Given the description of an element on the screen output the (x, y) to click on. 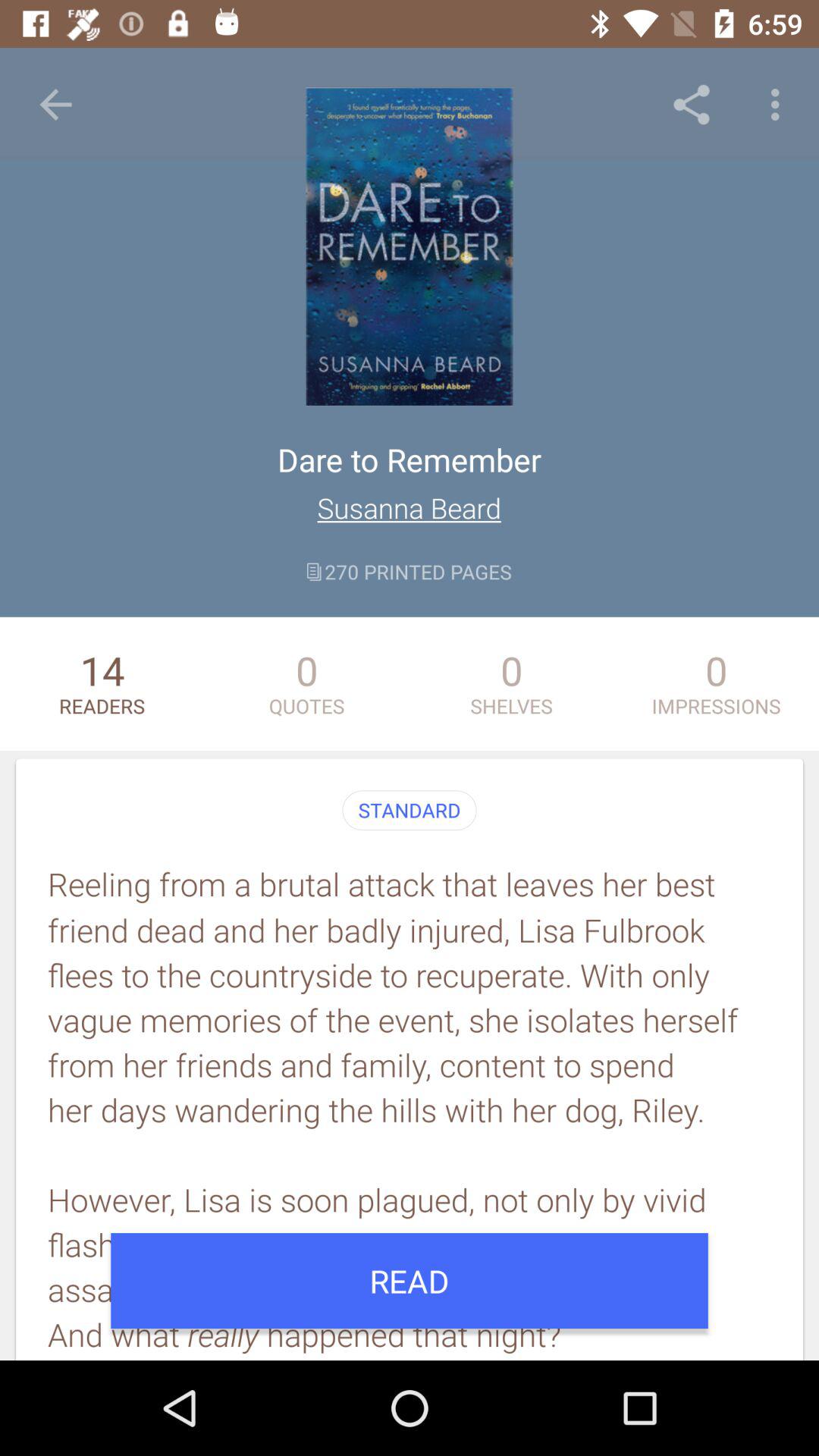
flip to the susanna beard item (408, 507)
